Given the description of an element on the screen output the (x, y) to click on. 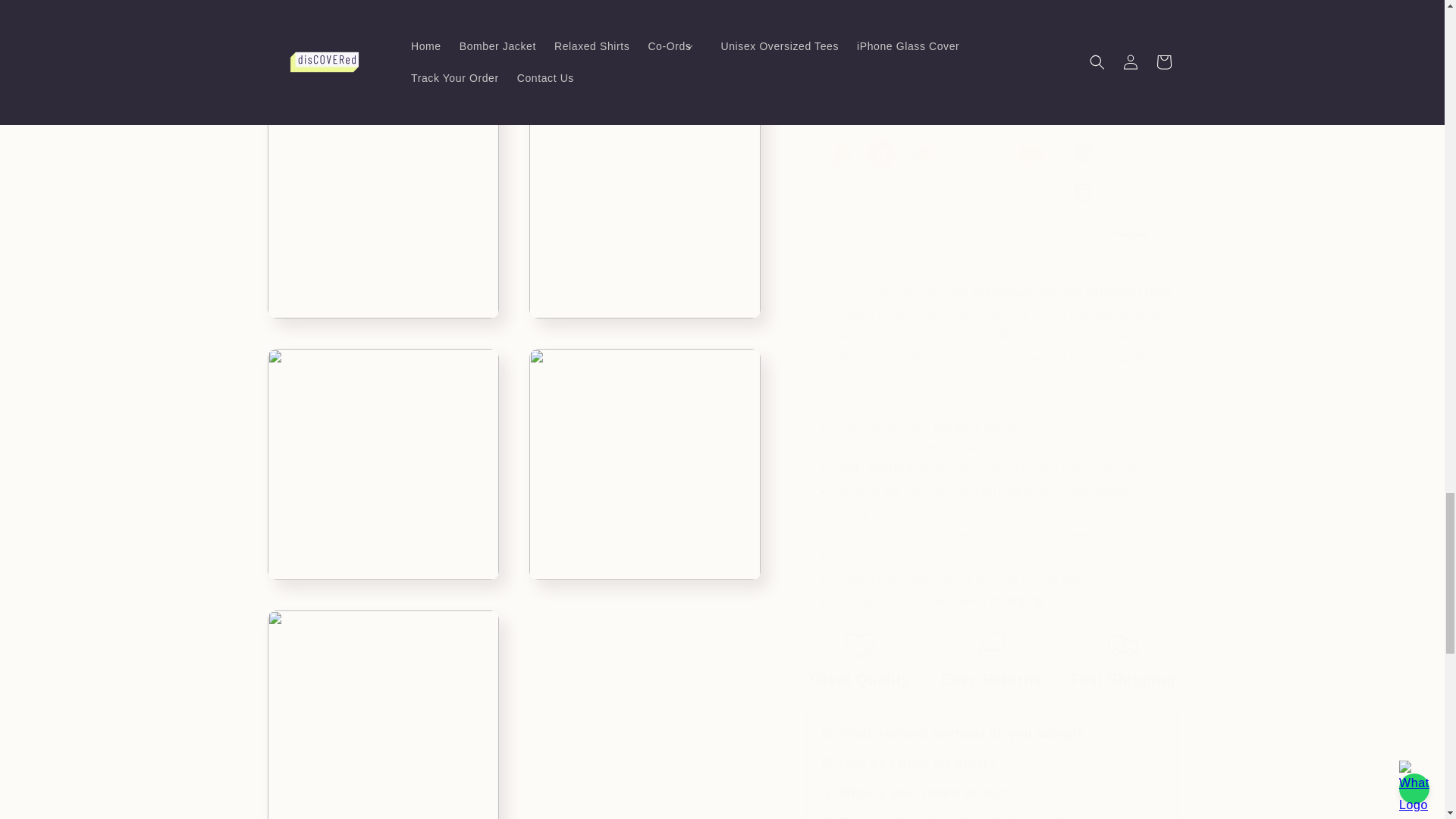
Open media 17 in modal (644, 187)
Open media 20 in modal (381, 707)
Open media 18 in modal (381, 449)
Open media 16 in modal (381, 187)
Open media 19 in modal (644, 449)
Open media 14 in modal (381, 20)
Open media 15 in modal (644, 20)
